Given the description of an element on the screen output the (x, y) to click on. 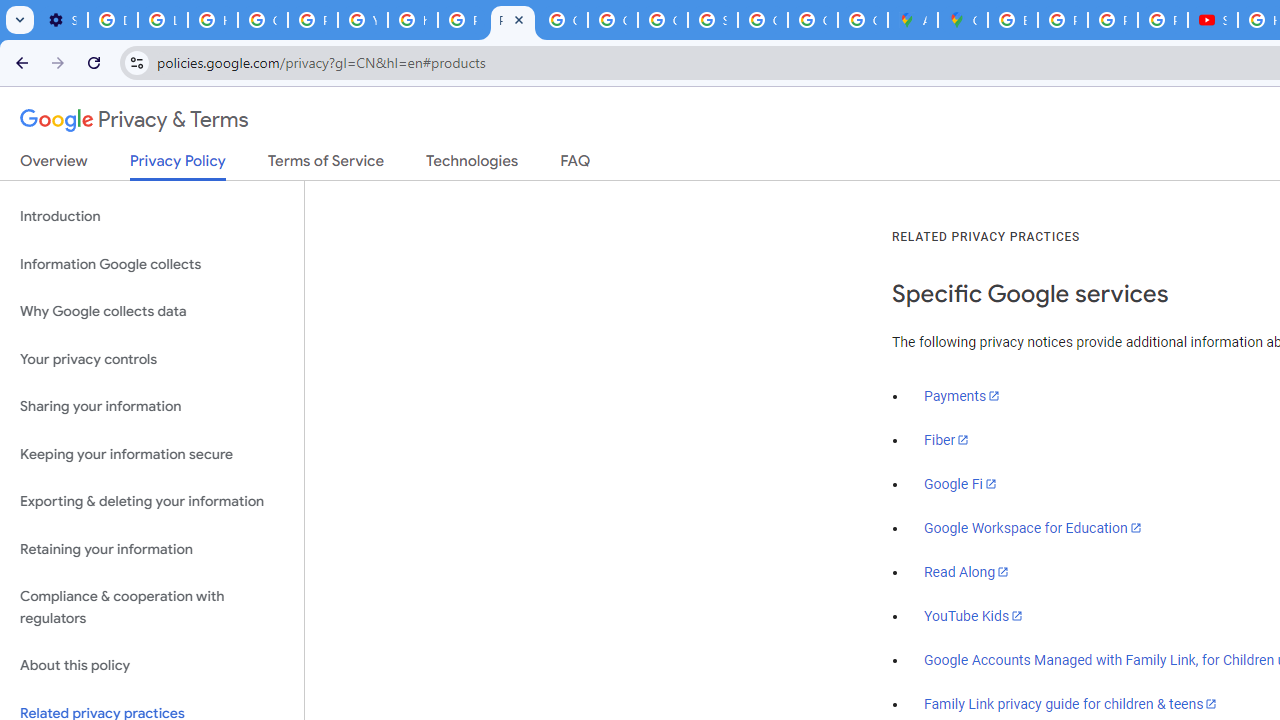
Blogger Policies and Guidelines - Transparency Center (1013, 20)
Settings - Customize profile (62, 20)
Read Along (966, 572)
Privacy Help Center - Policies Help (462, 20)
Subscriptions - YouTube (1212, 20)
YouTube (362, 20)
Delete photos & videos - Computer - Google Photos Help (113, 20)
